Given the description of an element on the screen output the (x, y) to click on. 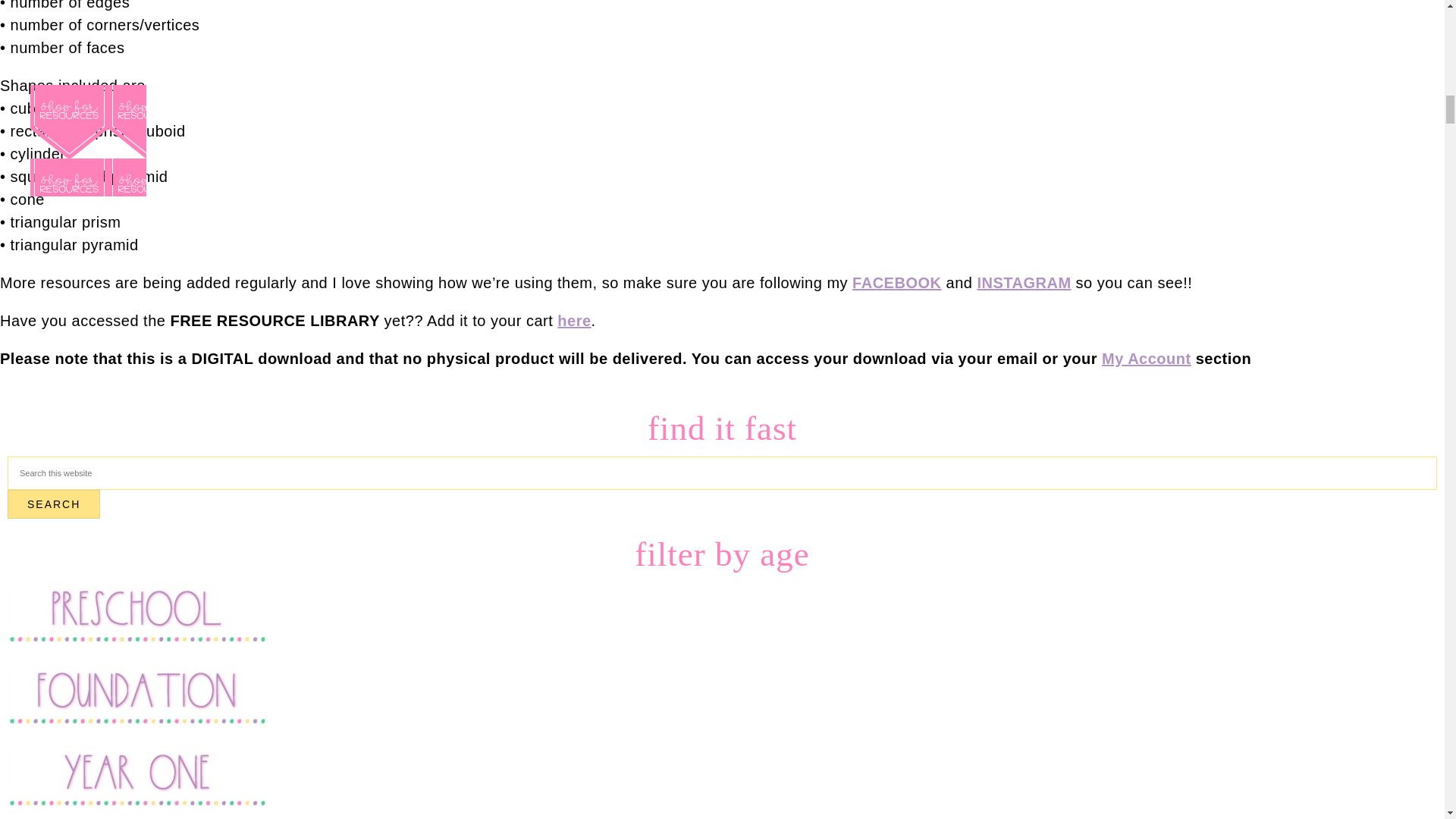
Search (53, 503)
FACEBOOK (895, 282)
Search (53, 503)
INSTAGRAM (1023, 282)
Search (53, 503)
My Account (1146, 358)
here (574, 320)
